Given the description of an element on the screen output the (x, y) to click on. 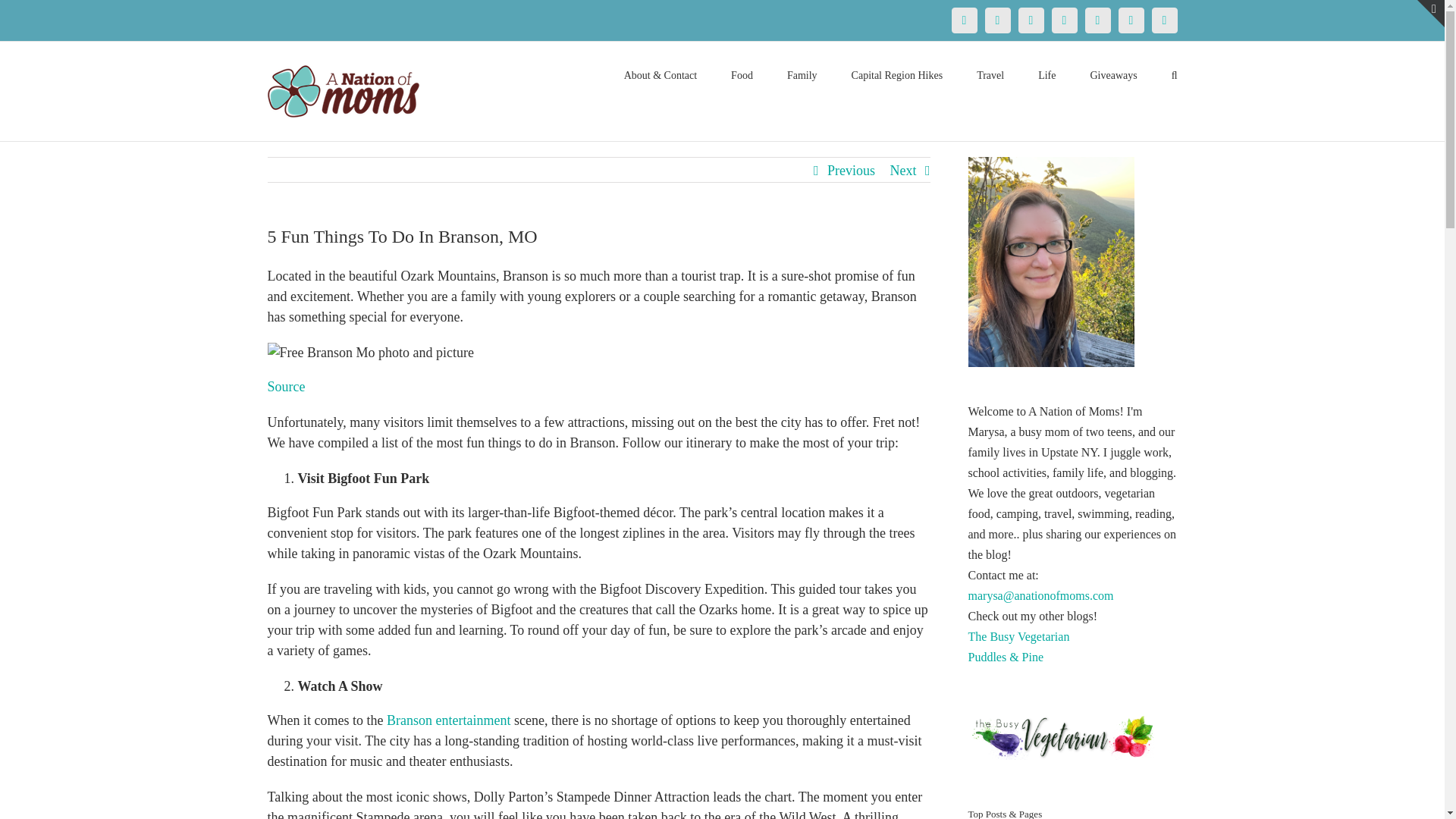
Facebook (963, 20)
Email (1163, 20)
Twitter (997, 20)
YouTube (1096, 20)
Twitter (997, 20)
YouTube (1096, 20)
Pinterest (1030, 20)
Instagram (1064, 20)
Instagram (1064, 20)
Pinterest (1030, 20)
Email (1163, 20)
Facebook (963, 20)
Capital Region Hikes (897, 74)
